Given the description of an element on the screen output the (x, y) to click on. 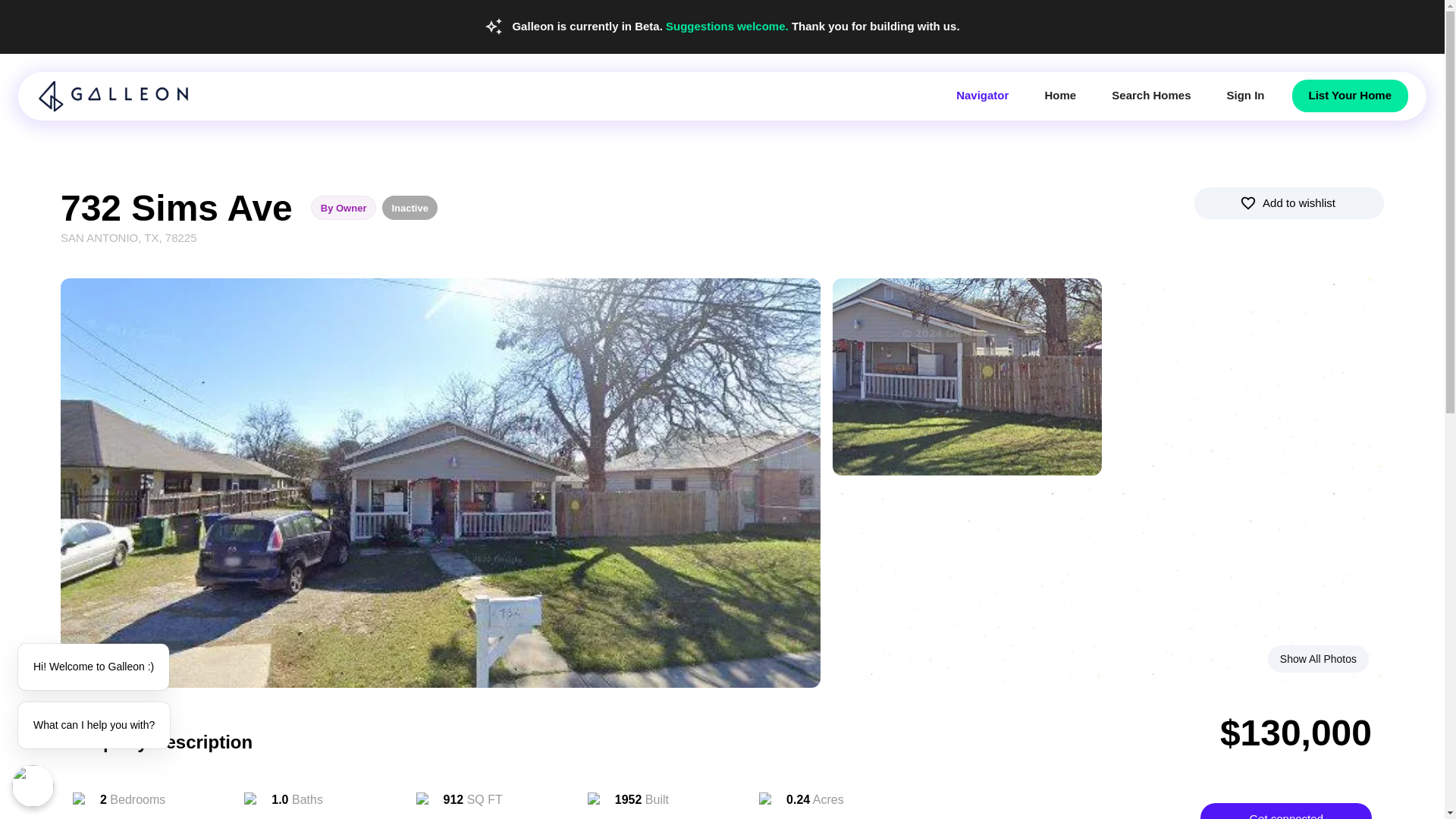
Add to wishlist (1288, 202)
Suggestions welcome. (728, 25)
List Your Home (1349, 95)
Sign In (1245, 95)
Home (1059, 95)
Get connected (1285, 811)
Search Homes (1150, 95)
Navigator (981, 95)
Show All Photos (1318, 659)
